Given the description of an element on the screen output the (x, y) to click on. 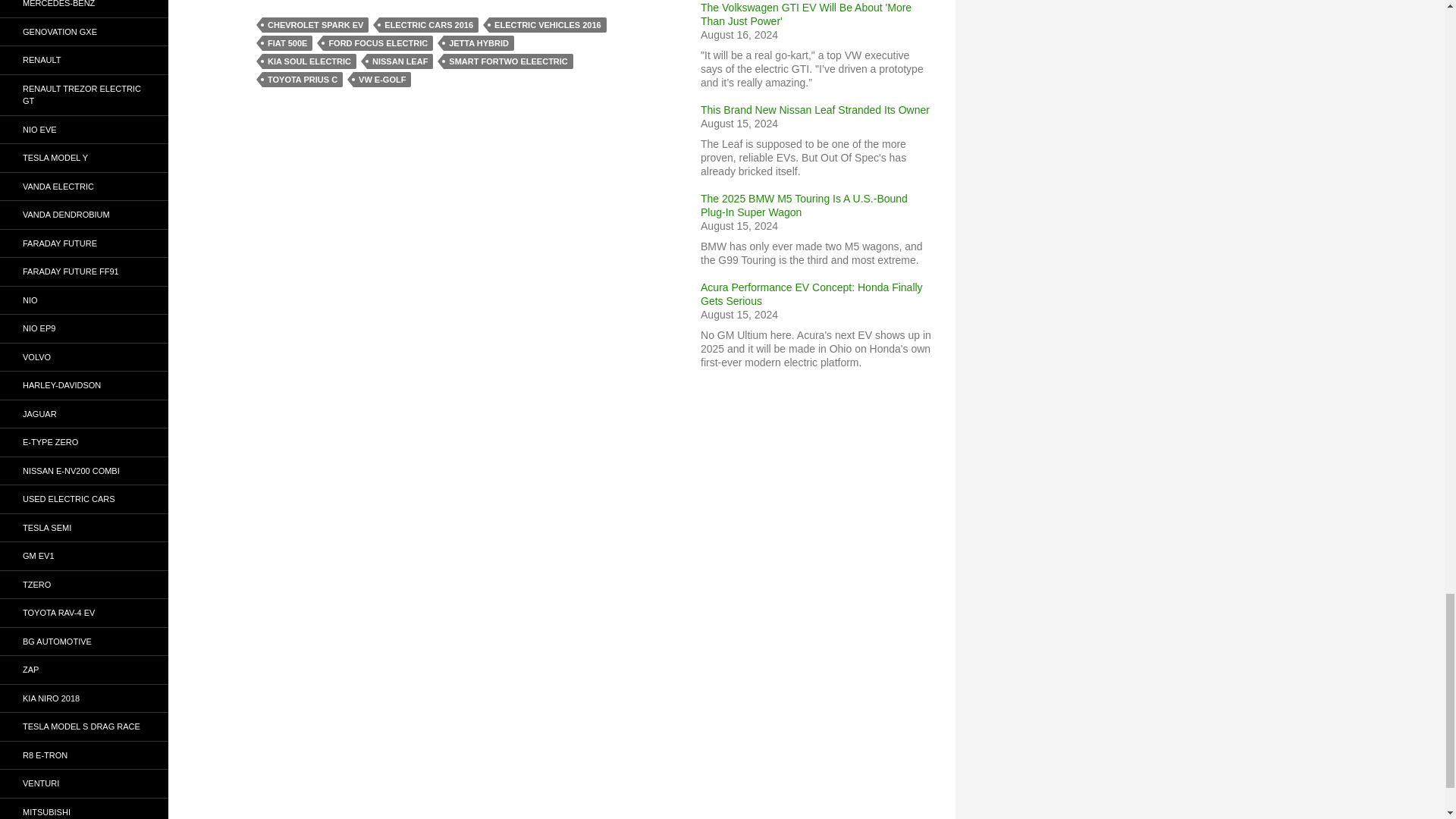
FIAT 500E (287, 43)
ELECTRIC VEHICLES 2016 (548, 24)
FORD FOCUS ELECTRIC (377, 43)
KIA SOUL ELECTRIC (309, 61)
ELECTRIC CARS 2016 (428, 24)
SMART FORTWO ELEECTRIC (508, 61)
CHEVROLET SPARK EV (315, 24)
JETTA HYBRID (478, 43)
NISSAN LEAF (399, 61)
VW E-GOLF (381, 79)
